Given the description of an element on the screen output the (x, y) to click on. 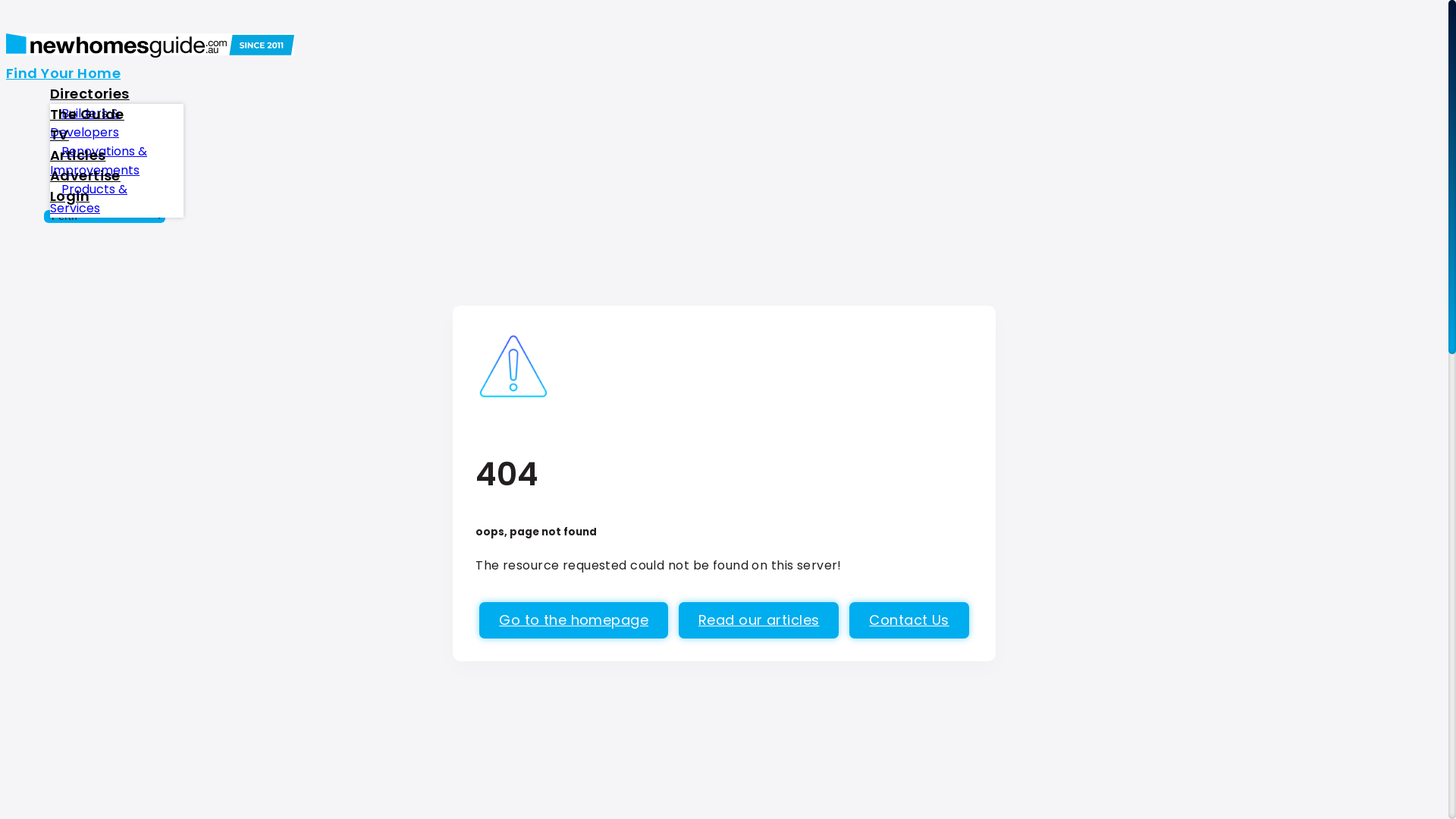
Articles Element type: text (77, 154)
Go to the homepage Element type: text (573, 620)
Find Your Home Element type: text (63, 72)
The Guide Element type: text (87, 113)
Read our articles Element type: text (758, 620)
Builders & Developers Element type: text (90, 122)
Renovations & Improvements Element type: text (100, 160)
Products & Services Element type: text (88, 198)
Contact Us Element type: text (908, 620)
Directories Element type: text (89, 92)
Login Element type: text (69, 195)
Advertise Element type: text (85, 174)
TV Element type: text (59, 133)
